Given the description of an element on the screen output the (x, y) to click on. 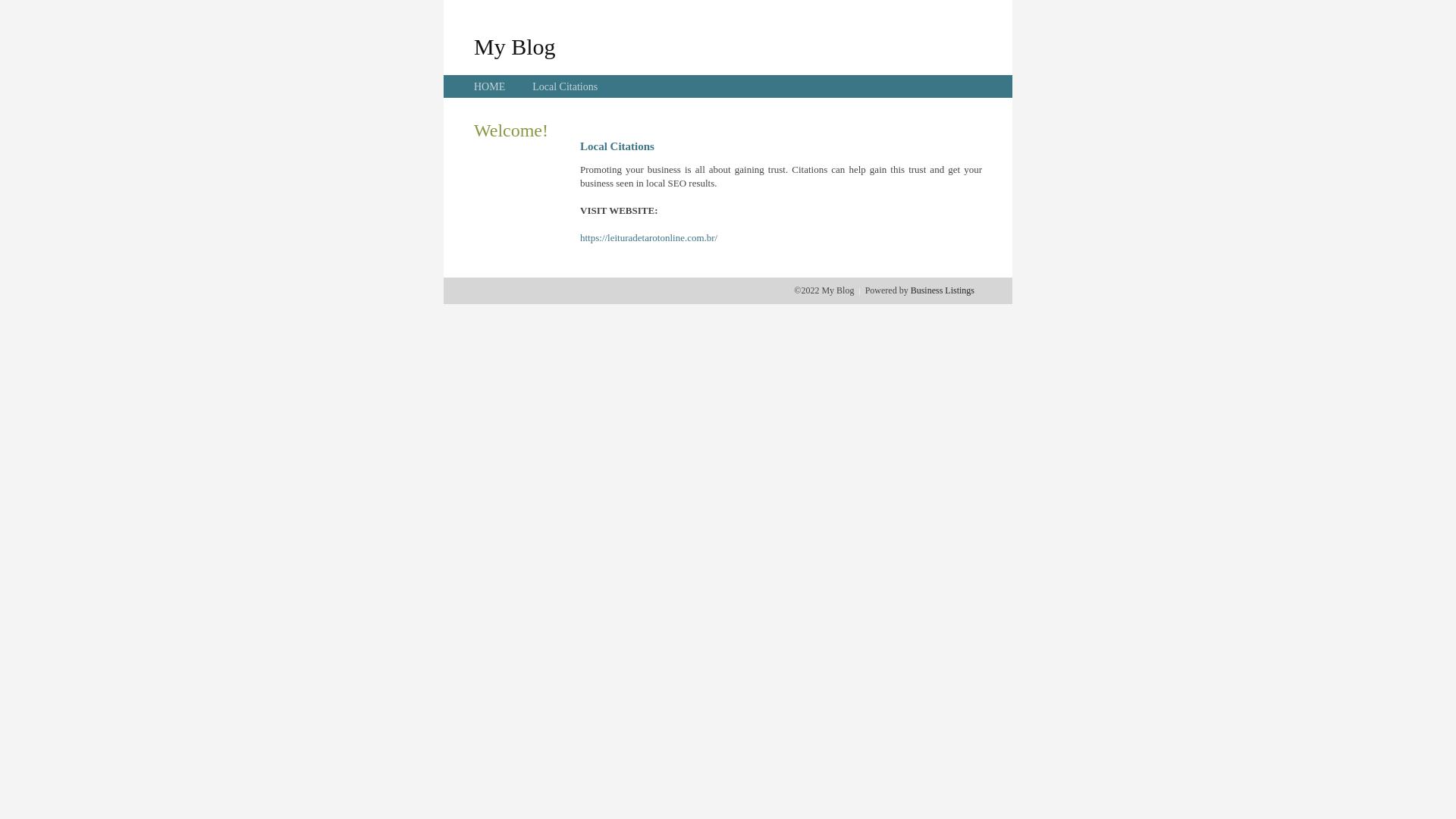
Business Listings Element type: text (942, 290)
Local Citations Element type: text (564, 86)
My Blog Element type: text (514, 46)
https://leituradetarotonline.com.br/ Element type: text (648, 237)
HOME Element type: text (489, 86)
